Given the description of an element on the screen output the (x, y) to click on. 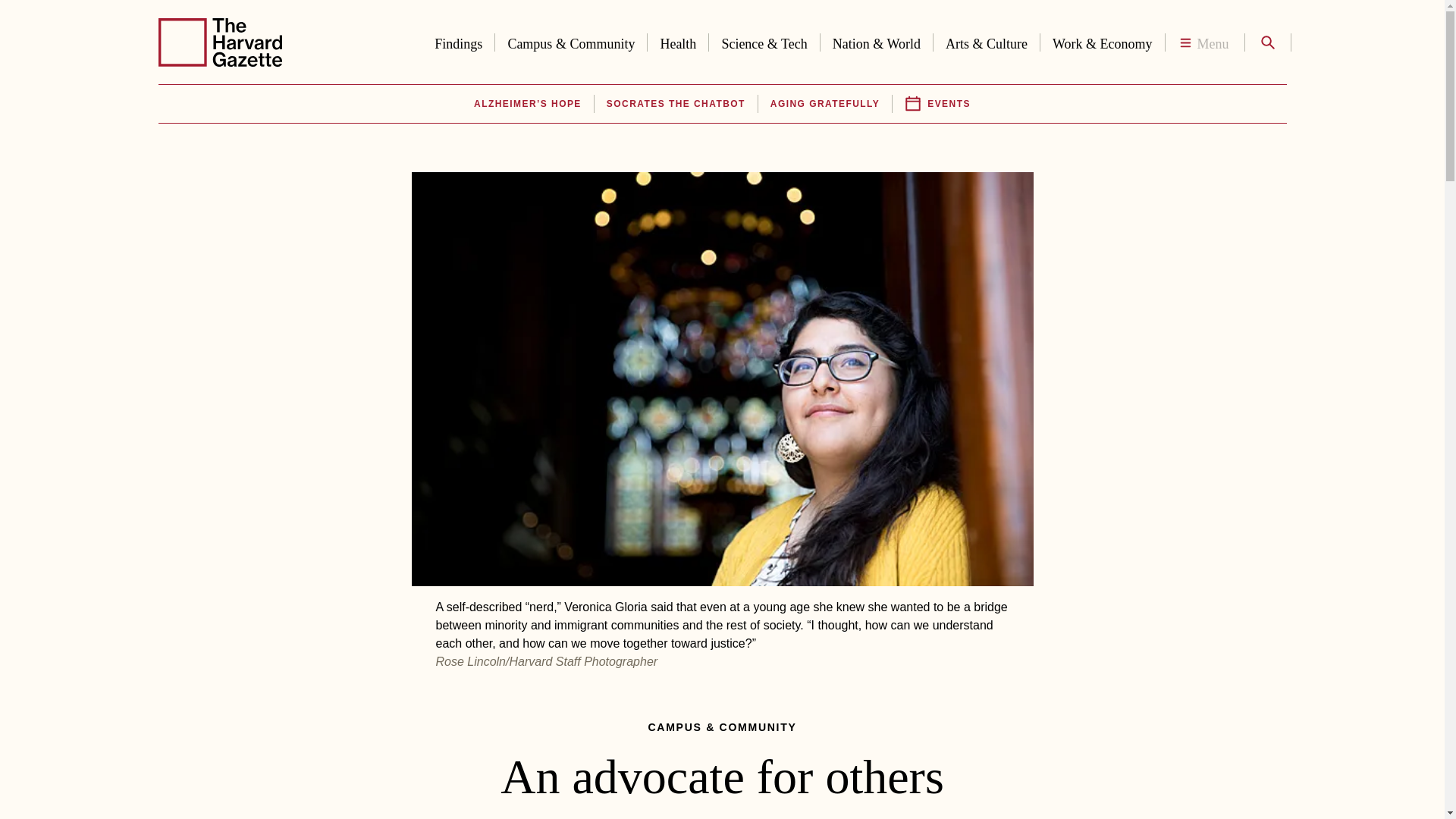
Findings (457, 41)
Search (1266, 42)
Health (677, 41)
Menu (1204, 42)
SOCRATES THE CHATBOT (675, 103)
AGING GRATEFULLY (824, 103)
